Given the description of an element on the screen output the (x, y) to click on. 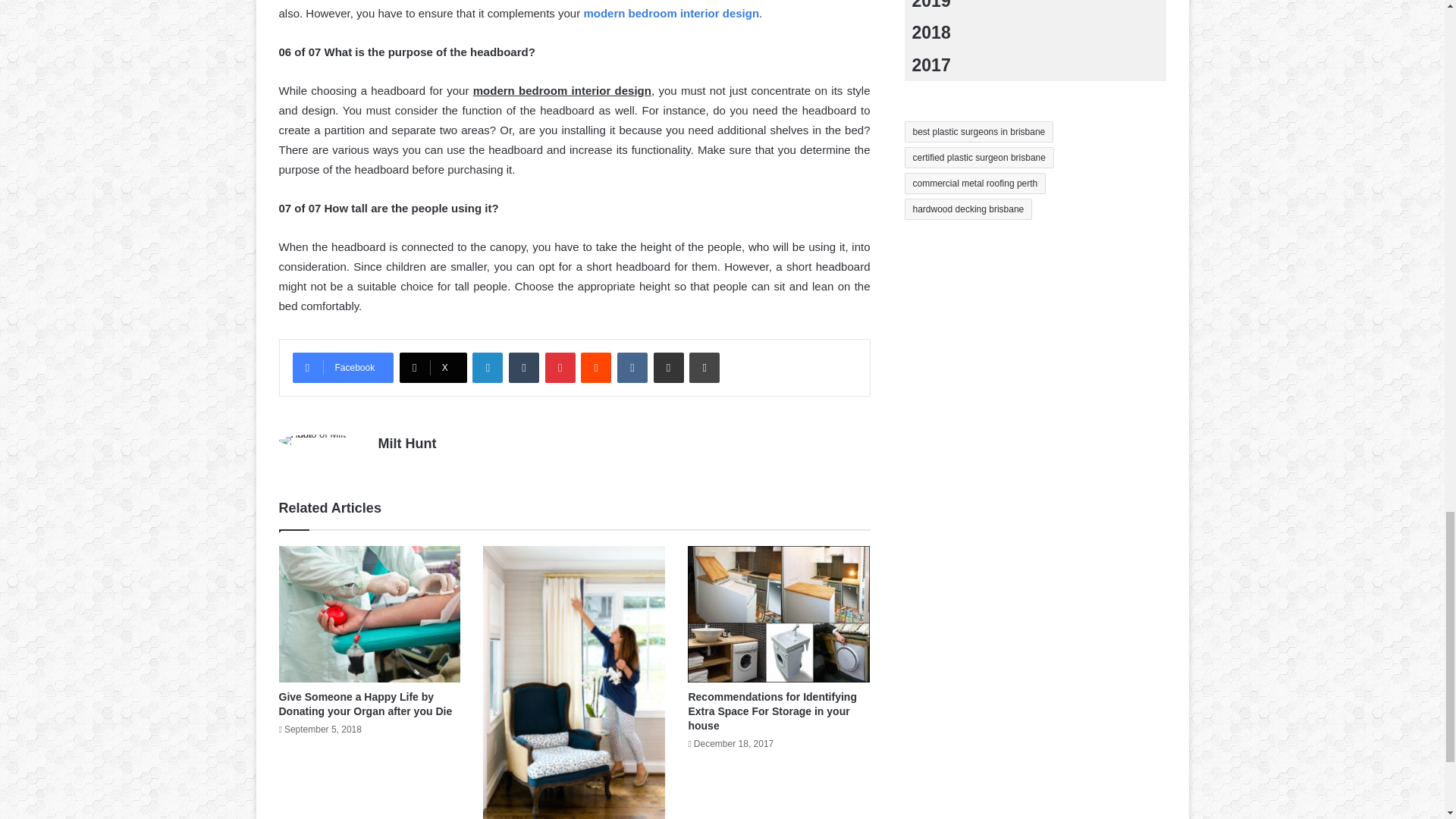
VKontakte (632, 367)
Print (703, 367)
Pinterest (559, 367)
Milt Hunt (406, 443)
X (432, 367)
modern bedroom interior design (670, 12)
Share via Email (668, 367)
Tumblr (523, 367)
Tumblr (523, 367)
Share via Email (668, 367)
Facebook (343, 367)
X (432, 367)
Facebook (343, 367)
Reddit (595, 367)
